Given the description of an element on the screen output the (x, y) to click on. 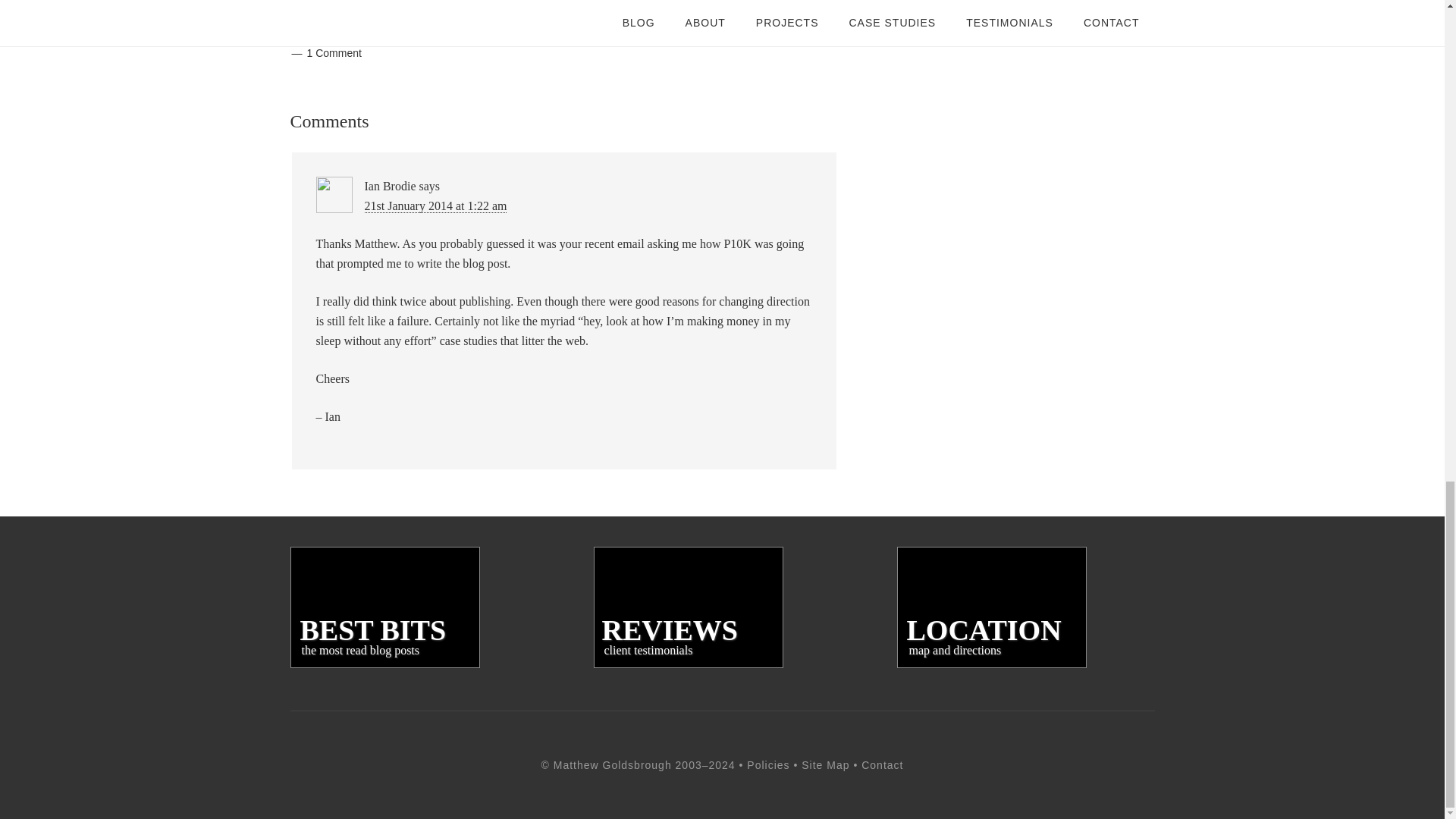
1 Comment (333, 52)
Site Map (825, 765)
Business Strategy (409, 19)
21st January 2014 at 1:22 am (384, 607)
planning (435, 205)
Contact (687, 607)
Policies (365, 35)
